Given the description of an element on the screen output the (x, y) to click on. 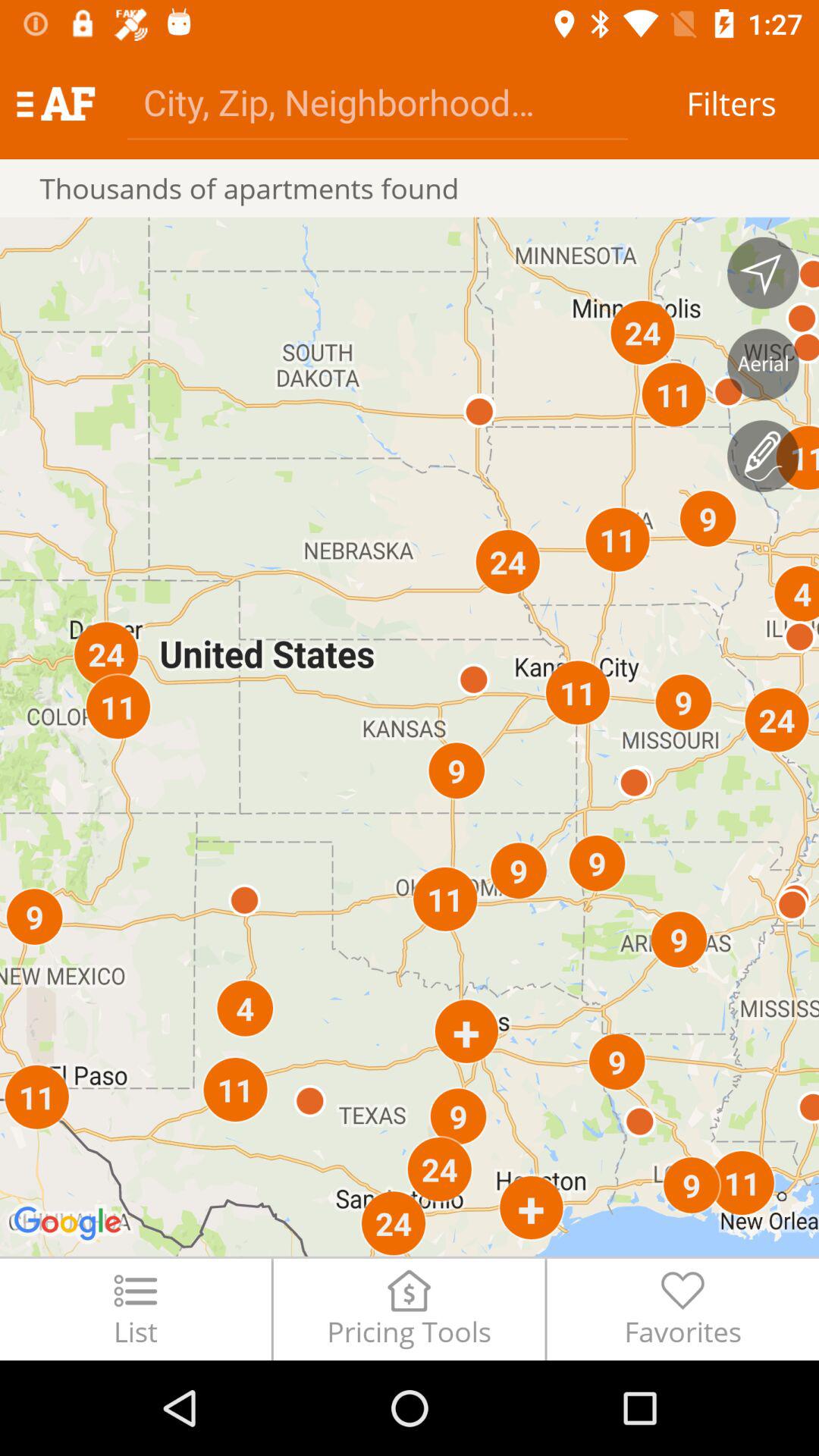
aerial view (763, 364)
